Given the description of an element on the screen output the (x, y) to click on. 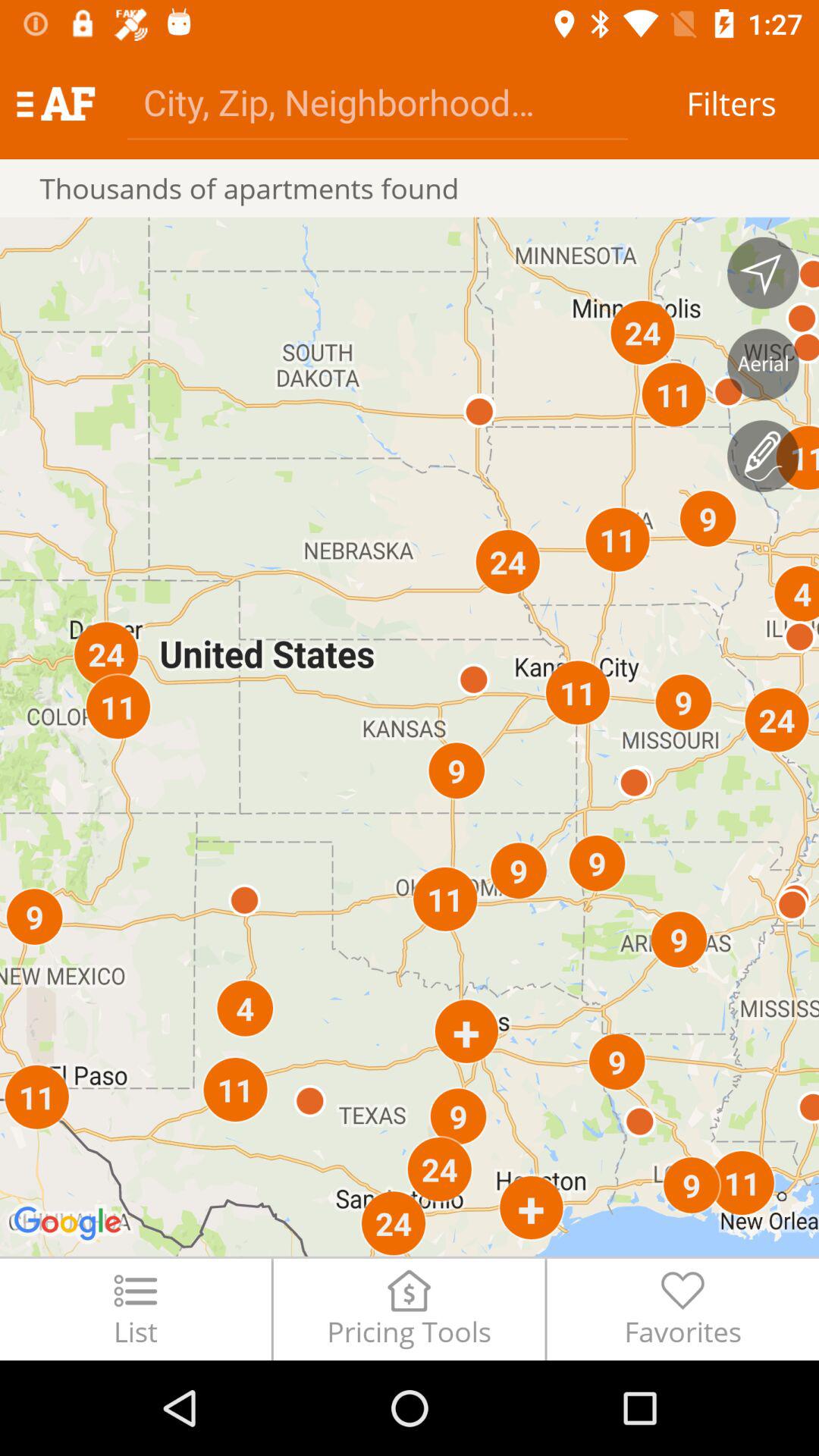
aerial view (763, 364)
